Given the description of an element on the screen output the (x, y) to click on. 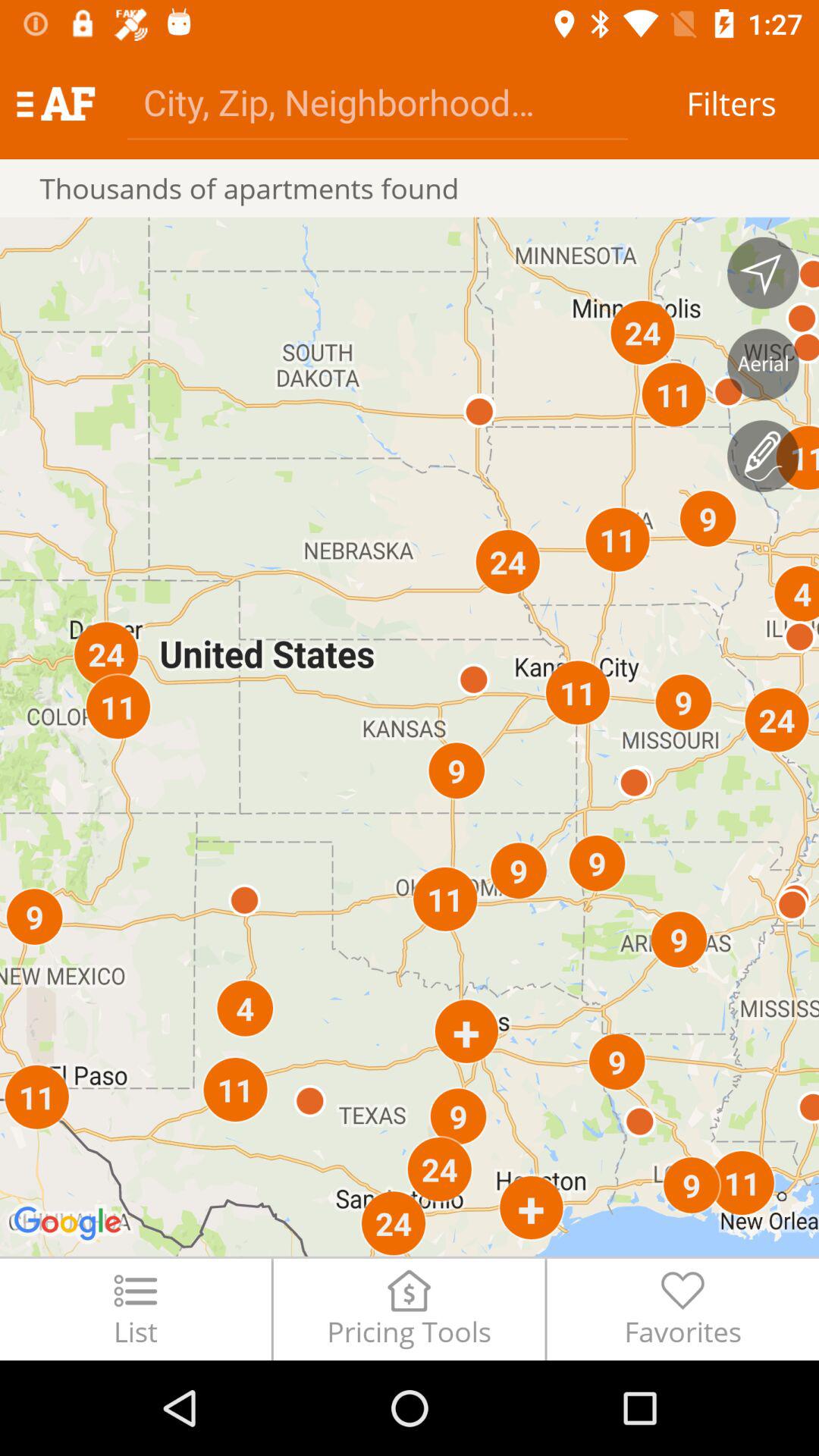
aerial view (763, 364)
